Given the description of an element on the screen output the (x, y) to click on. 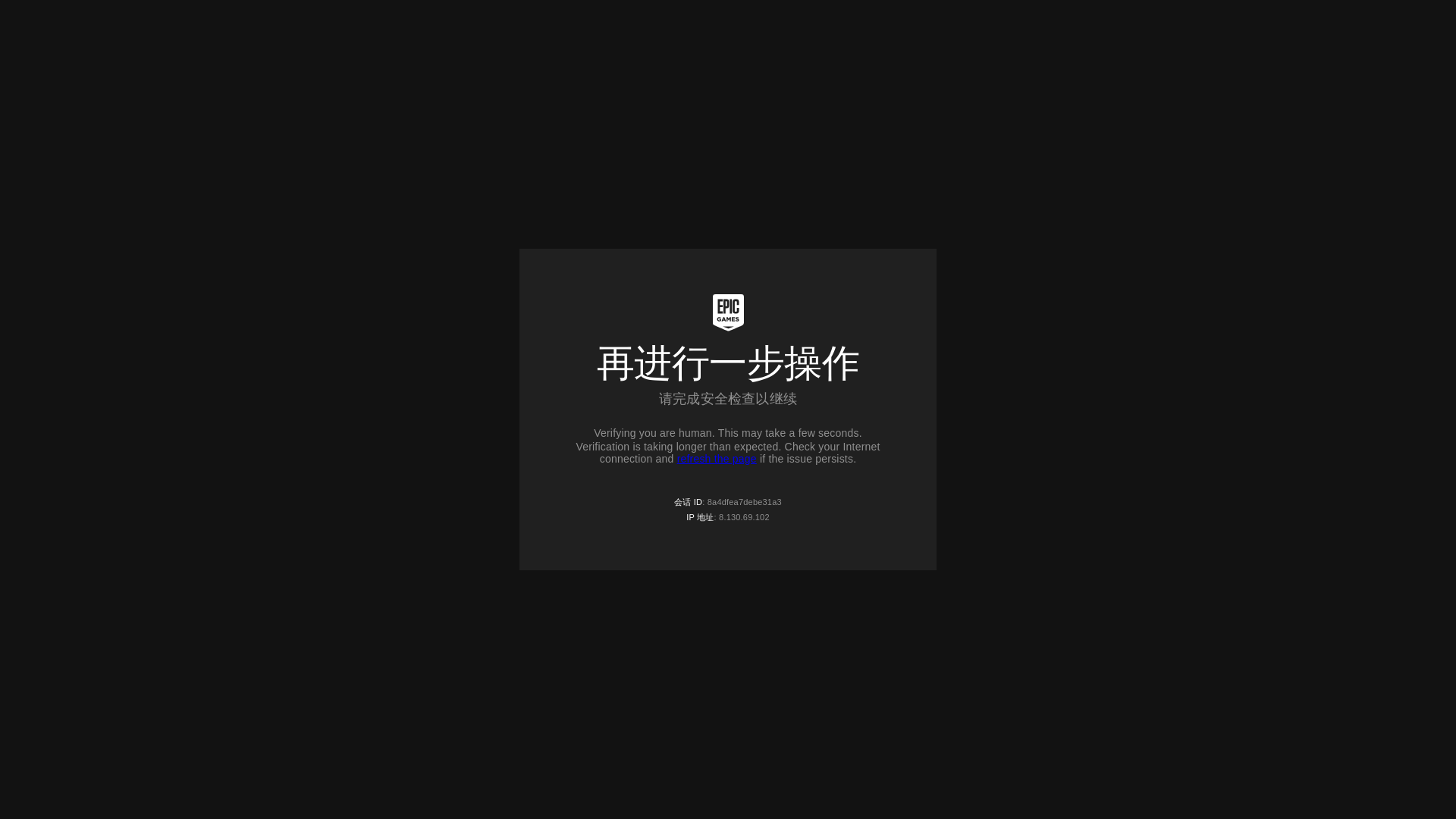
refresh the page (717, 458)
